Given the description of an element on the screen output the (x, y) to click on. 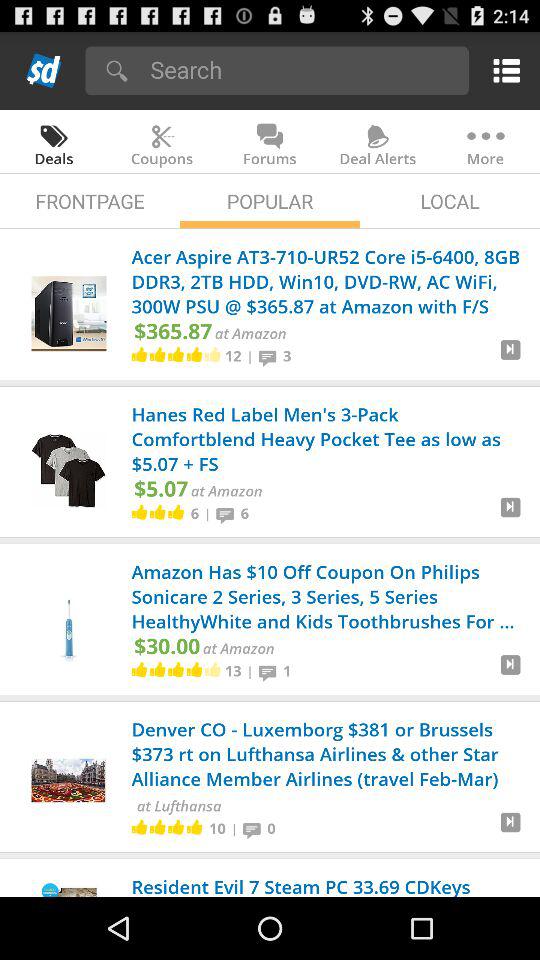
proceed to product page (510, 830)
